Given the description of an element on the screen output the (x, y) to click on. 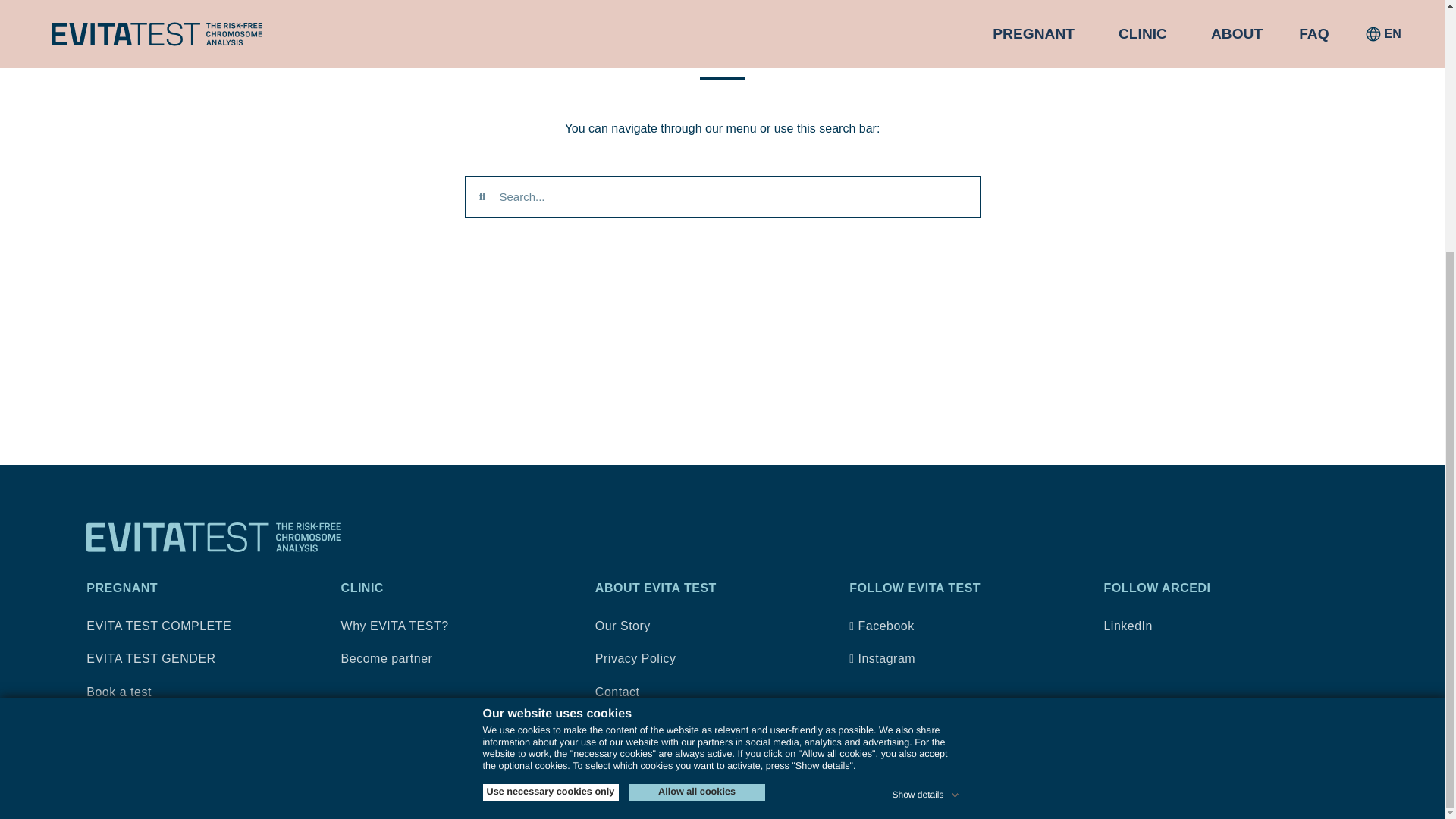
Show details (925, 437)
Use necessary cookies only (549, 437)
Allow all cookies (696, 437)
